Given the description of an element on the screen output the (x, y) to click on. 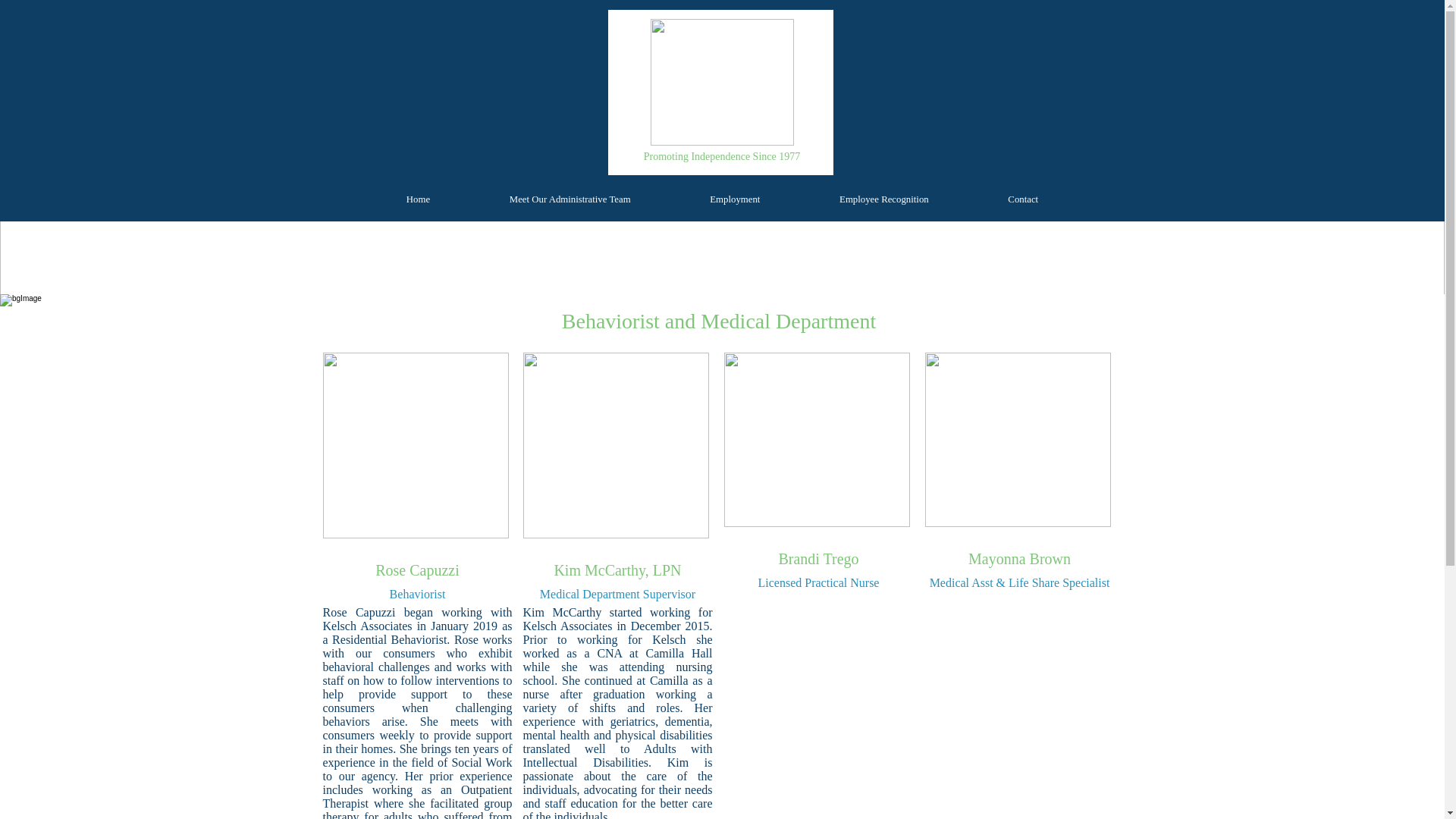
Employee Recognition (883, 199)
Meet Our Administrative Team (568, 199)
Home (418, 199)
Contact (1022, 199)
Employment (734, 199)
